Given the description of an element on the screen output the (x, y) to click on. 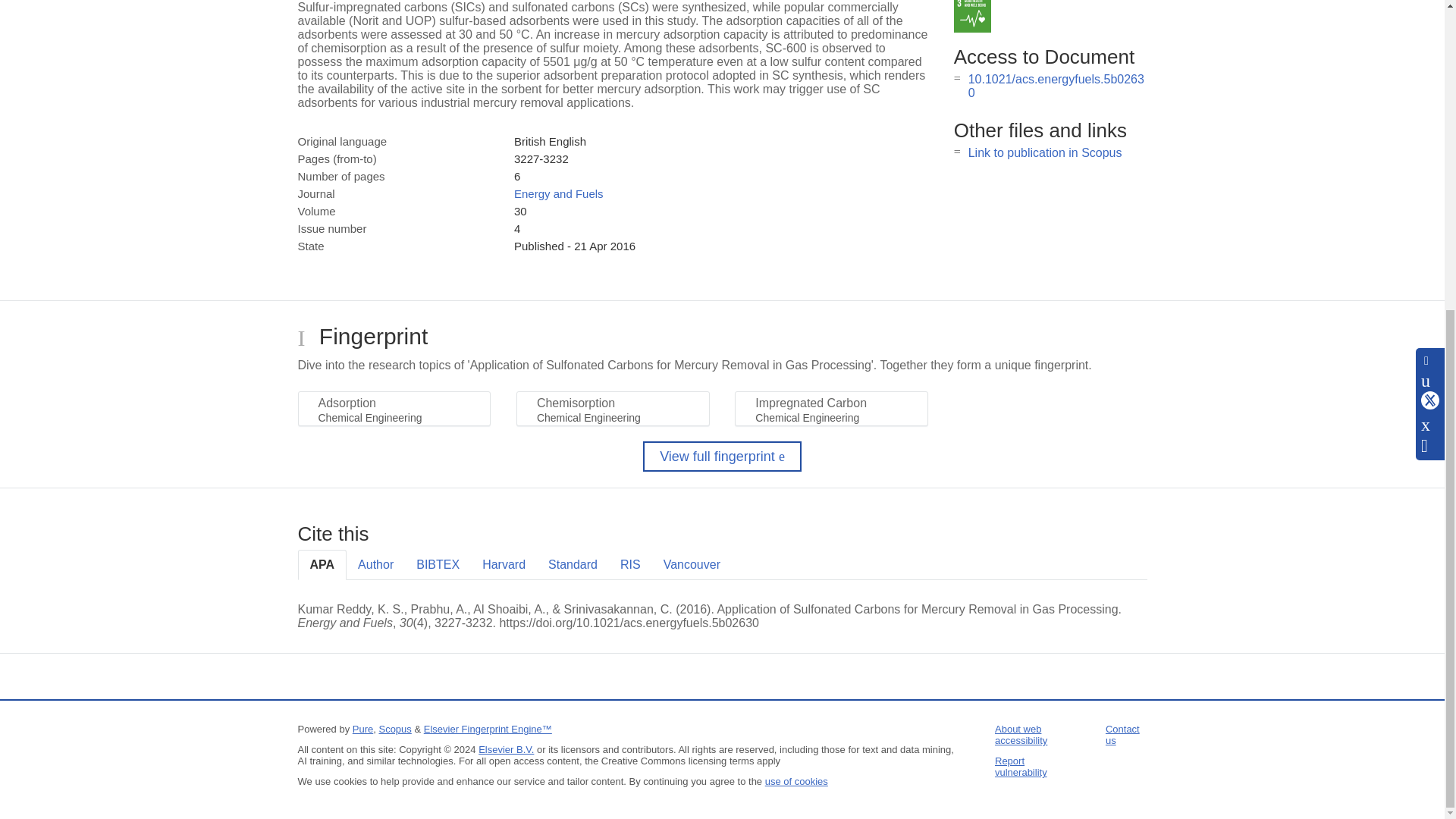
View full fingerprint (722, 456)
Elsevier B.V. (506, 749)
Energy and Fuels (558, 193)
SDG 3 - Good Health and Well-being (972, 16)
Report vulnerability (1020, 766)
About web accessibility (1020, 734)
Link to publication in Scopus (1045, 152)
Contact us (1122, 734)
use of cookies (796, 781)
Scopus (394, 728)
